Given the description of an element on the screen output the (x, y) to click on. 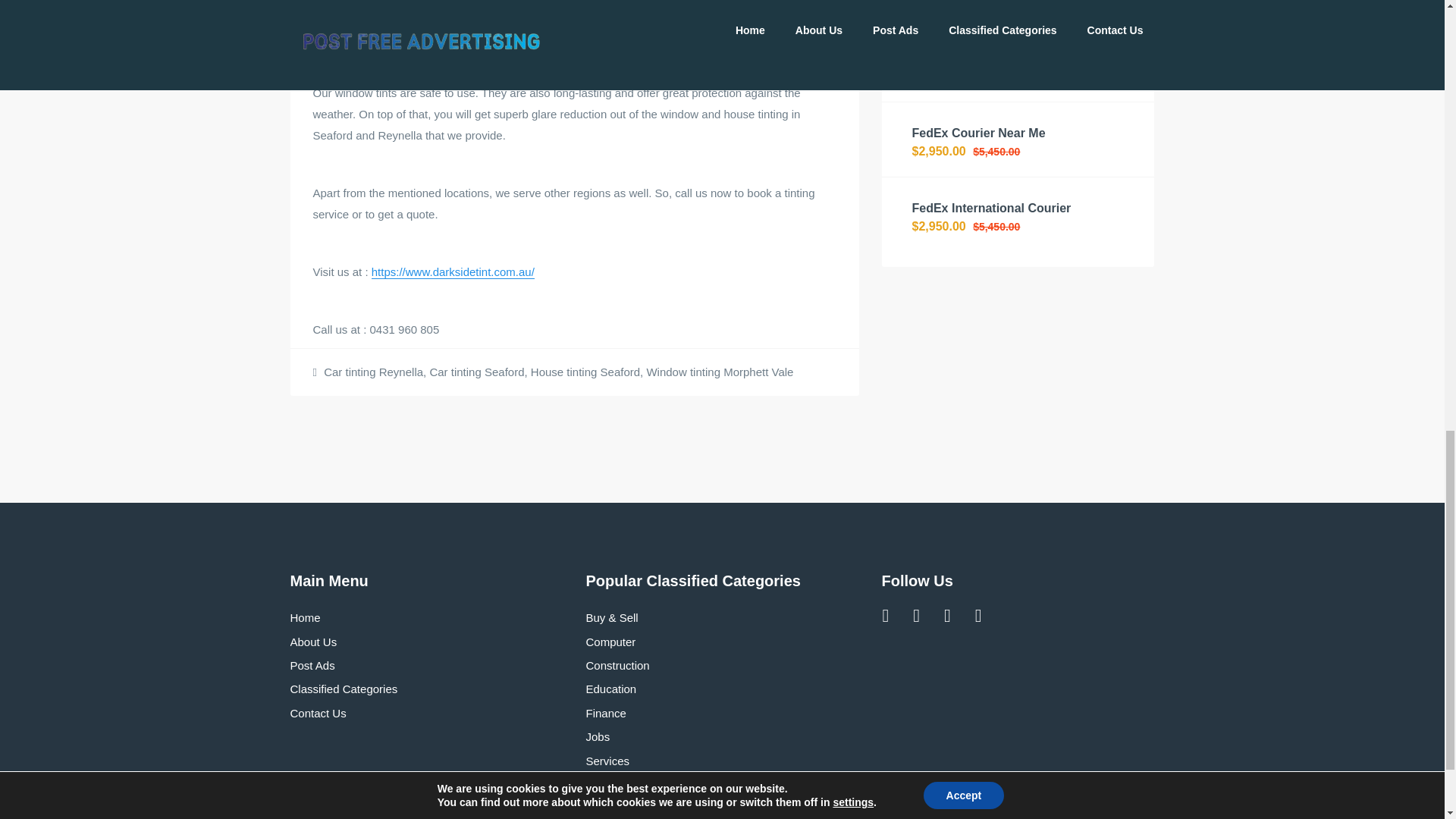
Computer (609, 641)
About Us (312, 641)
FedEx Courier Near Me (978, 132)
House tinting Seaford (585, 371)
Home (304, 617)
Car tinting Seaford (476, 371)
Post Ads (311, 665)
Window tinting Morphett Vale (719, 371)
Classified Categories (343, 688)
Contact Us (317, 712)
Car tinting Reynella (373, 371)
FedEx International Courier (990, 207)
